Given the description of an element on the screen output the (x, y) to click on. 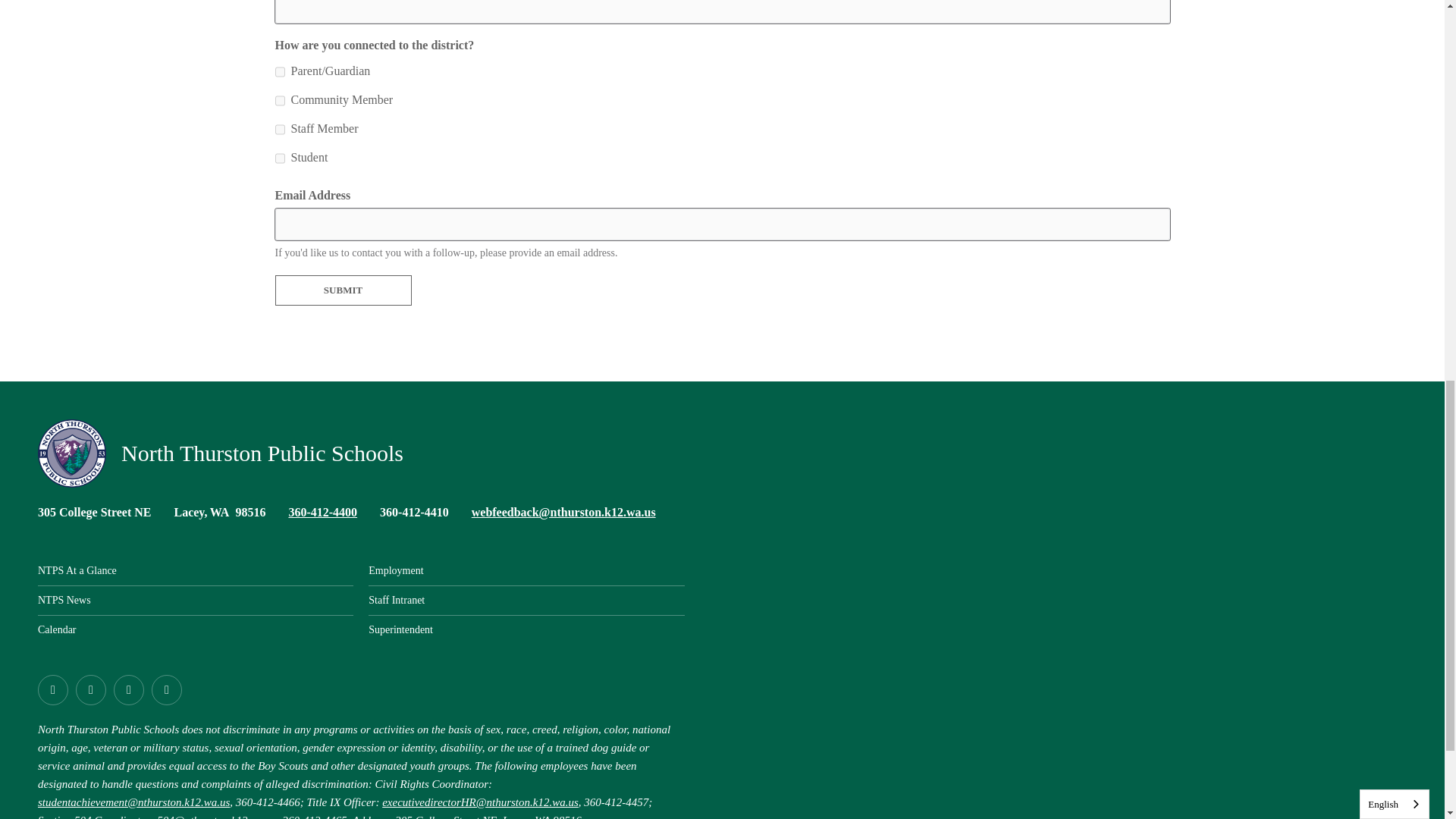
Email (563, 512)
